Given the description of an element on the screen output the (x, y) to click on. 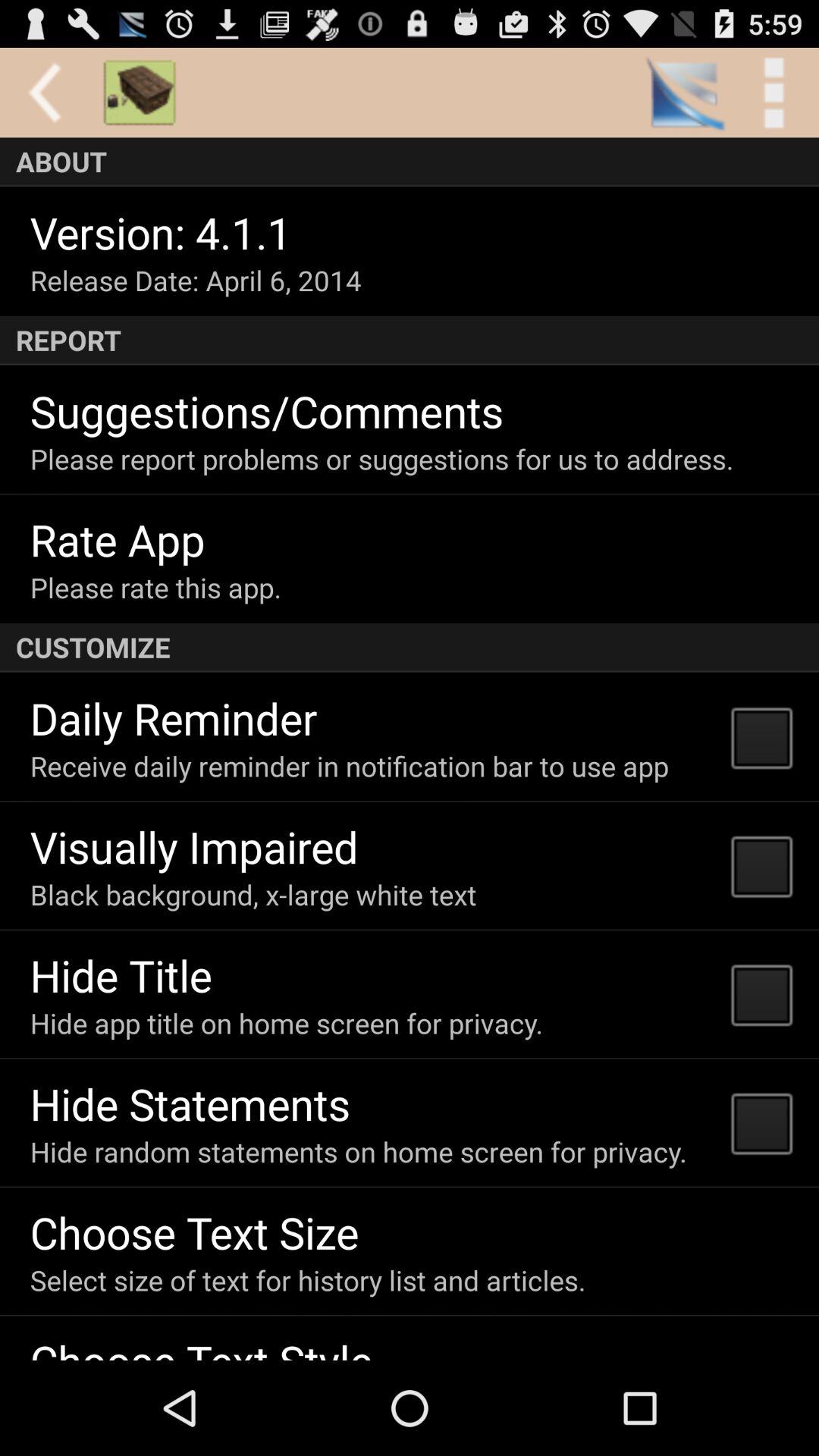
open the icon below the choose text size icon (307, 1280)
